Given the description of an element on the screen output the (x, y) to click on. 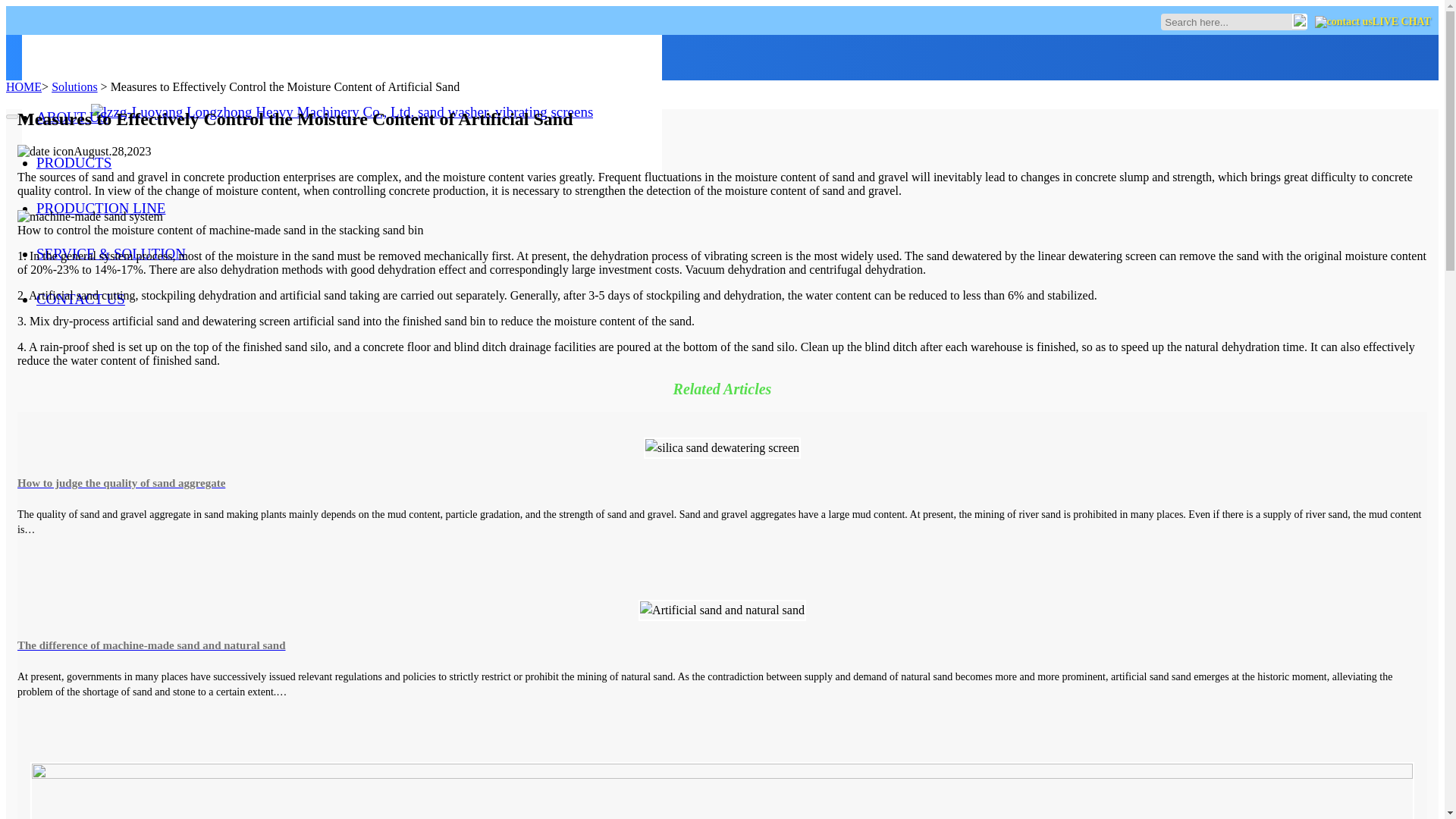
PRODUCTS (91, 162)
HOME (23, 86)
LIVE CHAT (1372, 21)
Solutions (73, 86)
CONTACT US (98, 299)
PRODUCTION LINE (118, 207)
The difference of machine-made sand and natural sand (721, 645)
ABOUT US (89, 116)
How to judge the quality of sand aggregate (721, 483)
